Given the description of an element on the screen output the (x, y) to click on. 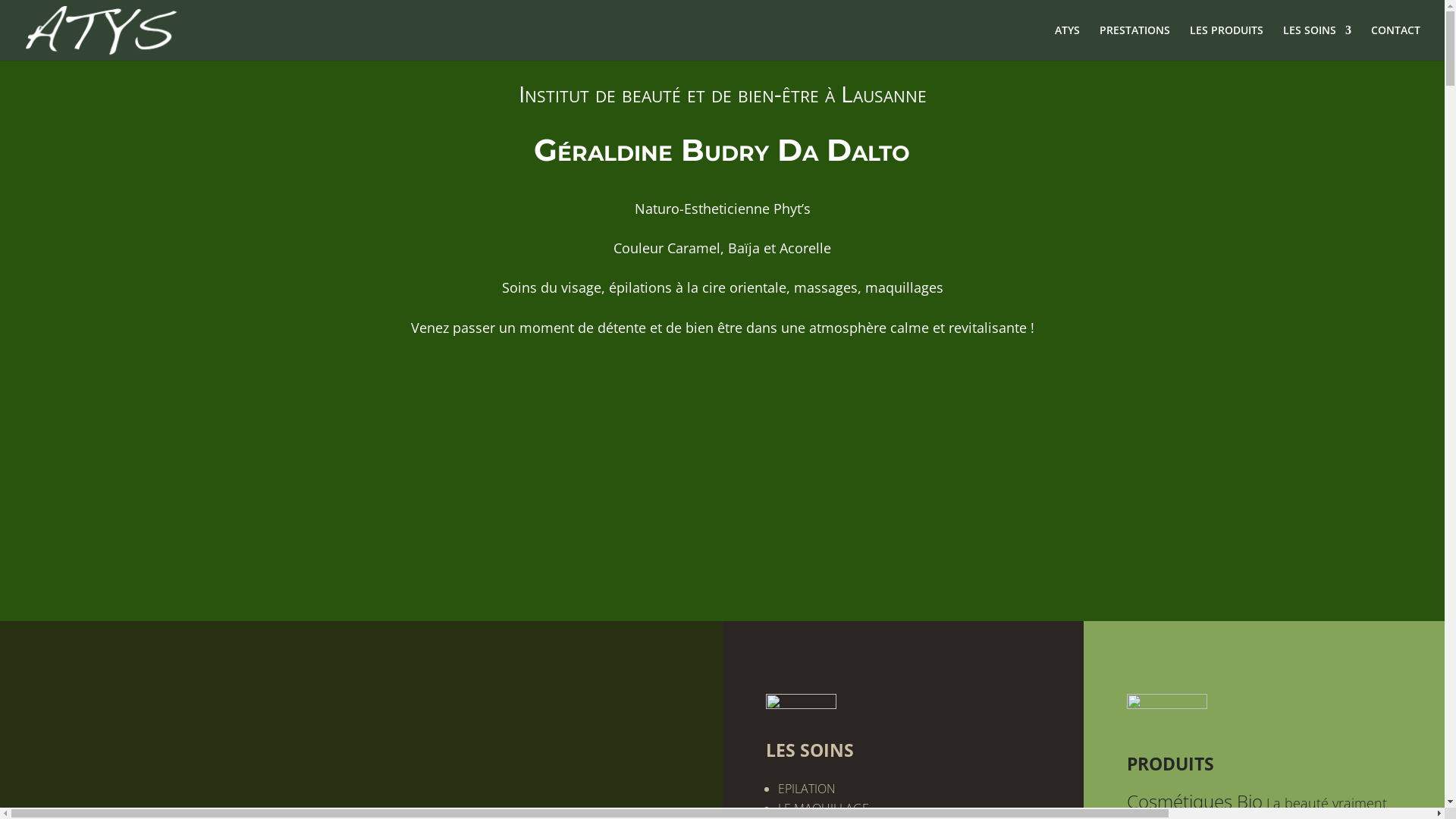
CONTACT Element type: text (1395, 42)
LES PRODUITS Element type: text (1226, 42)
LES SOINS Element type: text (1317, 42)
ATYS Element type: text (1066, 42)
PRESTATIONS Element type: text (1134, 42)
